Given the description of an element on the screen output the (x, y) to click on. 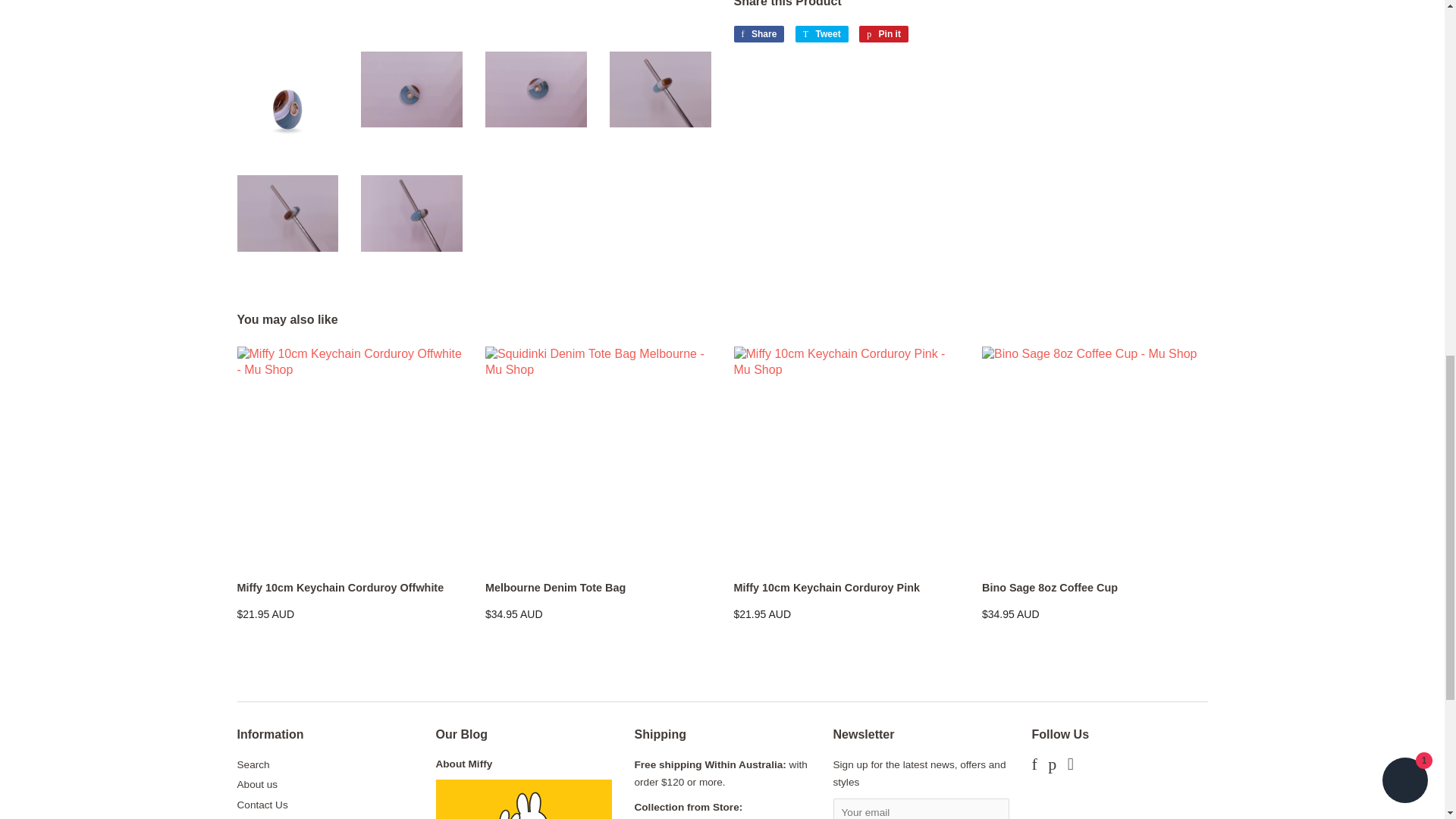
Share on Facebook (758, 33)
Tweet on Twitter (821, 33)
Pin on Pinterest (883, 33)
